Given the description of an element on the screen output the (x, y) to click on. 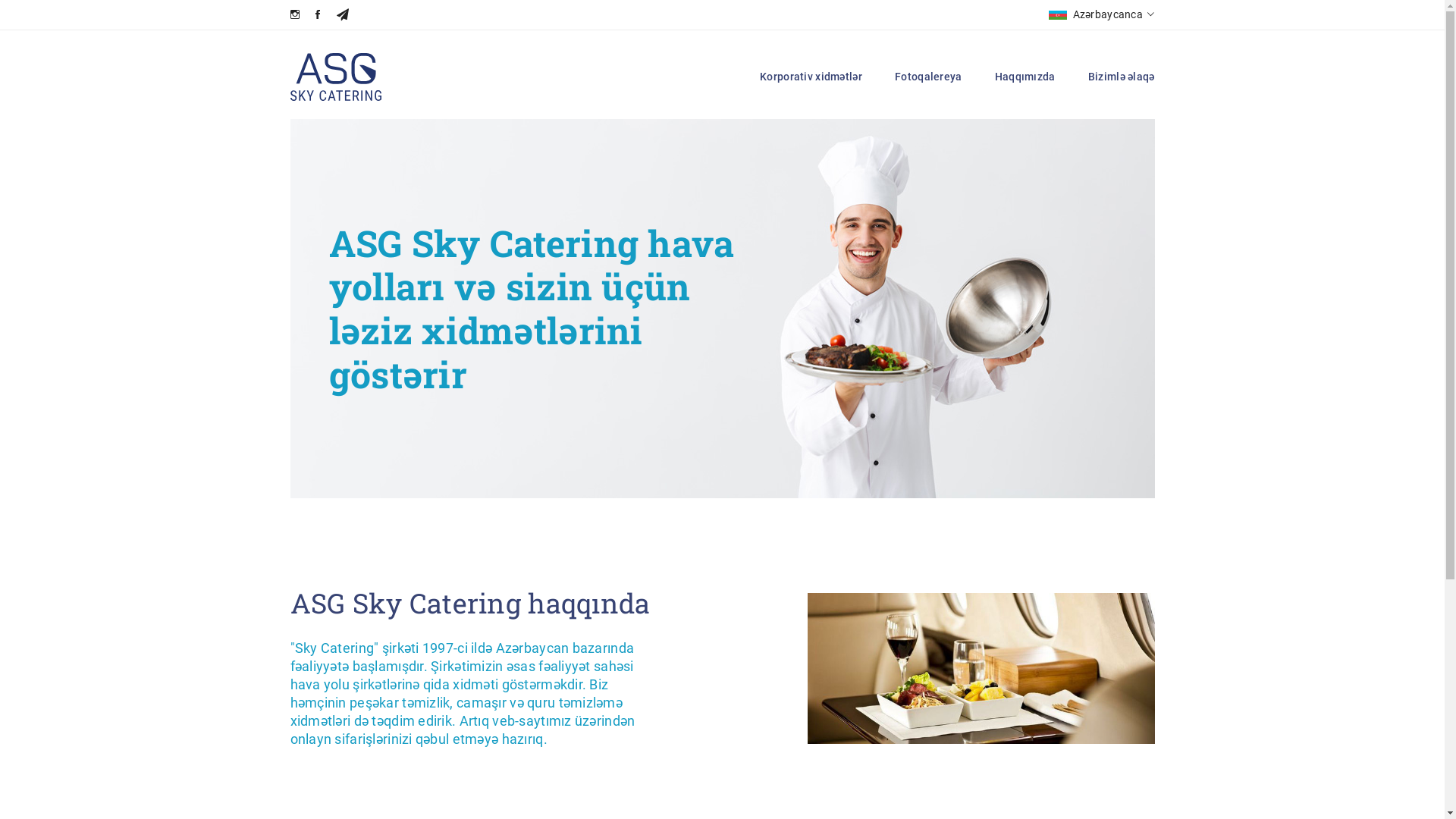
Fotoqalereya Element type: text (927, 76)
